Given the description of an element on the screen output the (x, y) to click on. 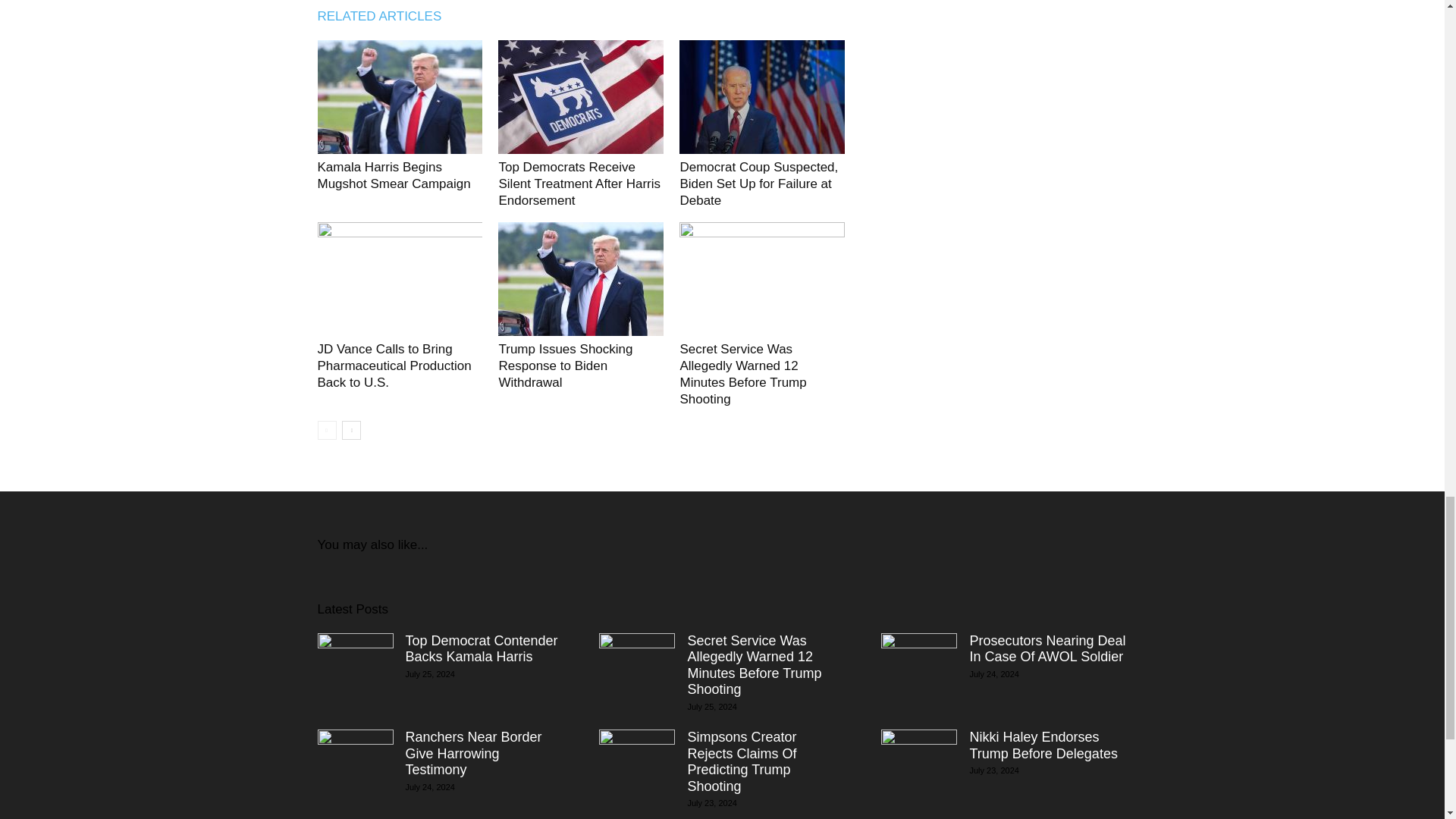
Trump Issues Shocking Response to Biden Withdrawal (580, 278)
Democrat Coup Suspected, Biden Set Up for Failure at Debate (758, 183)
Kamala Harris Begins Mugshot Smear Campaign (399, 96)
Democrat Coup Suspected, Biden Set Up for Failure at Debate (758, 183)
Democrat Coup Suspected, Biden Set Up for Failure at Debate (761, 96)
Kamala Harris Begins Mugshot Smear Campaign (393, 174)
RELATED ARTICLES (387, 15)
Trump Issues Shocking Response to Biden Withdrawal (564, 365)
Kamala Harris Begins Mugshot Smear Campaign (393, 174)
